Given the description of an element on the screen output the (x, y) to click on. 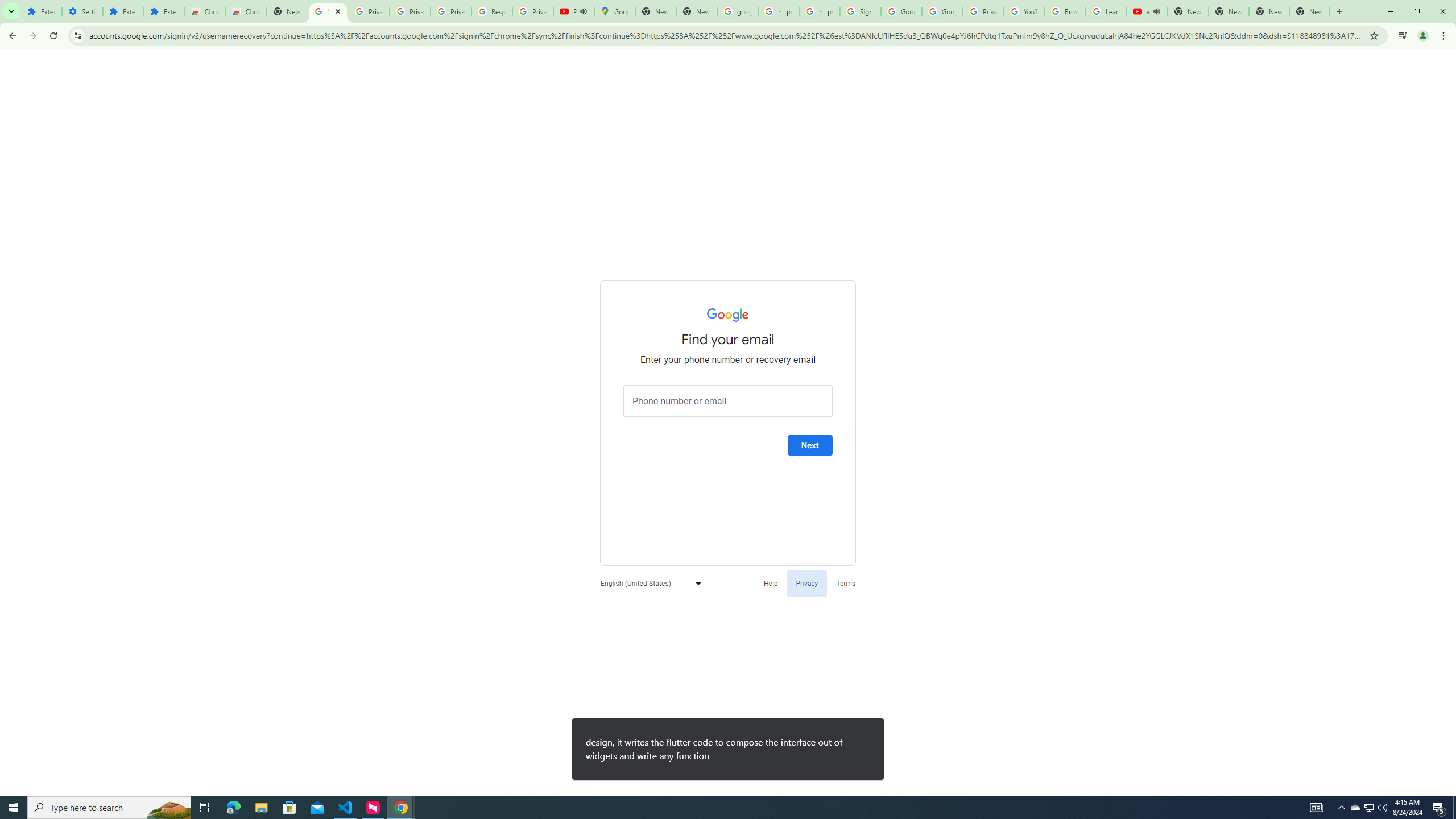
Mute tab (1156, 10)
Phone number or email (727, 400)
New Tab (1309, 11)
Sign in - Google Accounts (860, 11)
